Given the description of an element on the screen output the (x, y) to click on. 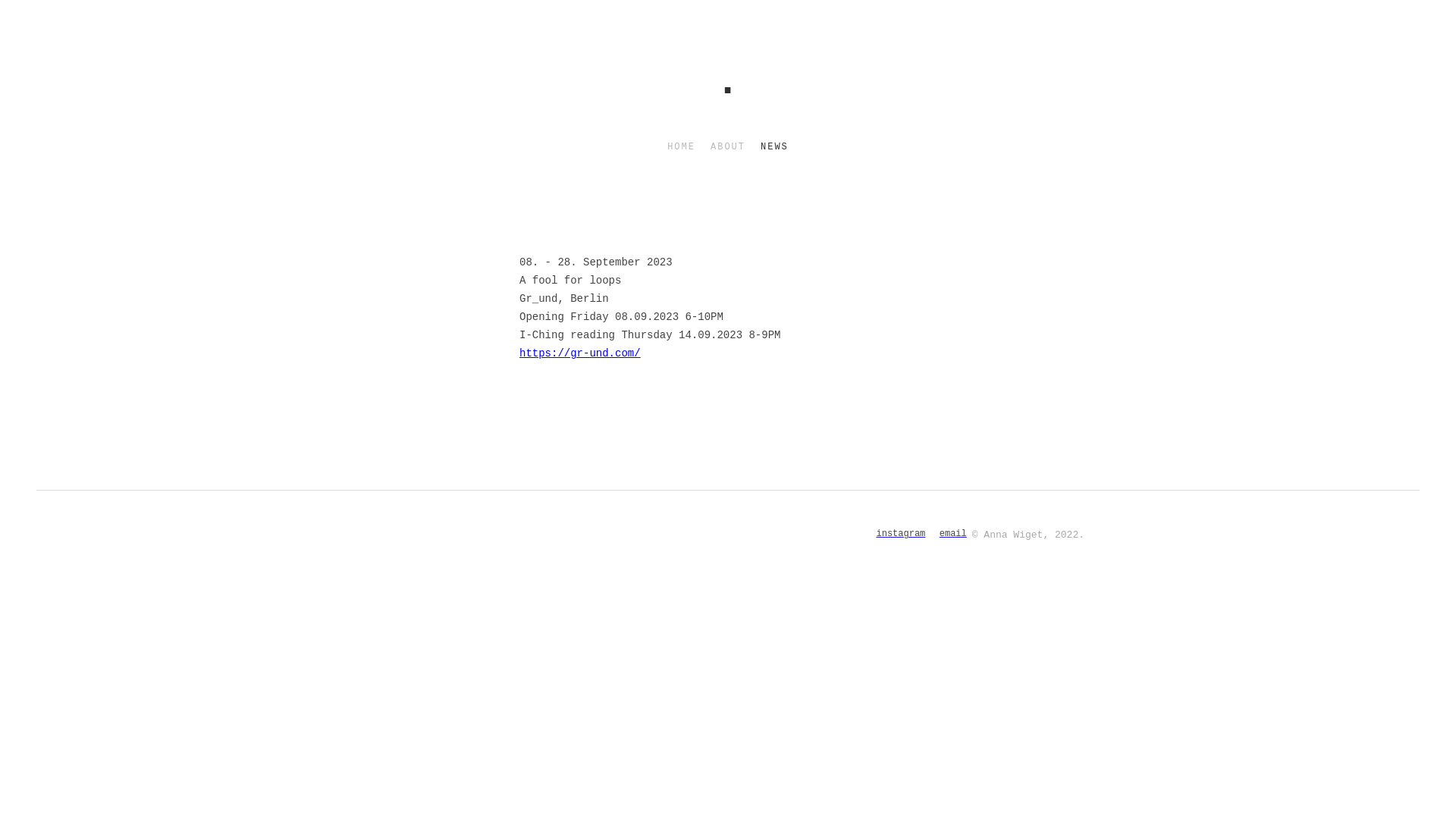
. Element type: text (727, 78)
HOME Element type: text (681, 146)
https://gr-und.com/ Element type: text (579, 353)
ABOUT Element type: text (727, 146)
NEWS Element type: text (774, 146)
instagram Element type: text (900, 533)
email Element type: text (953, 533)
